Given the description of an element on the screen output the (x, y) to click on. 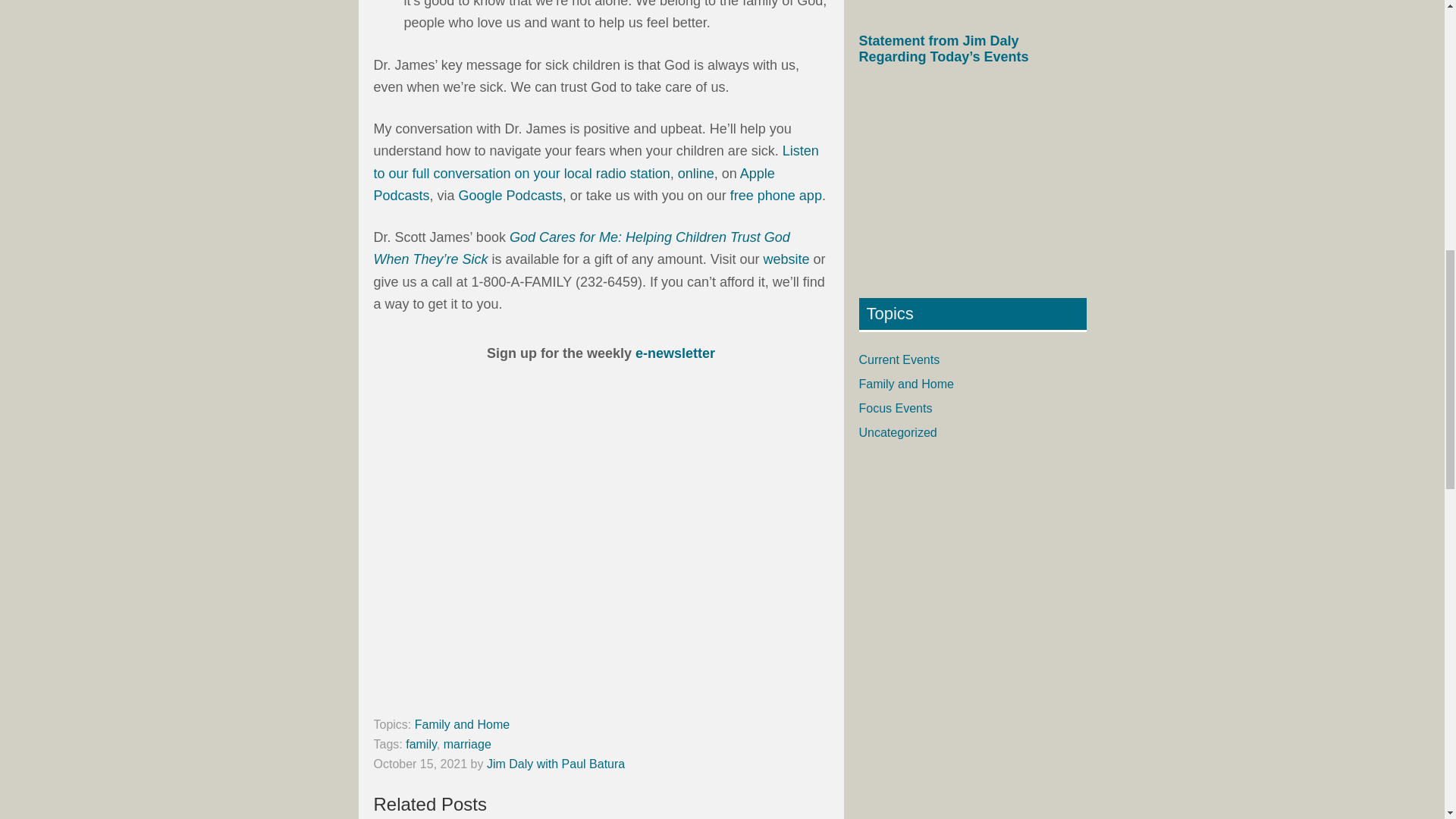
local radio station (616, 173)
Apple Podcasts (573, 184)
website (785, 258)
family (421, 744)
e-newsletter (674, 353)
Google Podcasts (510, 195)
online (696, 173)
Listen to our full conversation on your (595, 161)
free phone app (776, 195)
Family and Home (461, 724)
Jim Daly with Paul Batura (555, 763)
marriage (468, 744)
